Given the description of an element on the screen output the (x, y) to click on. 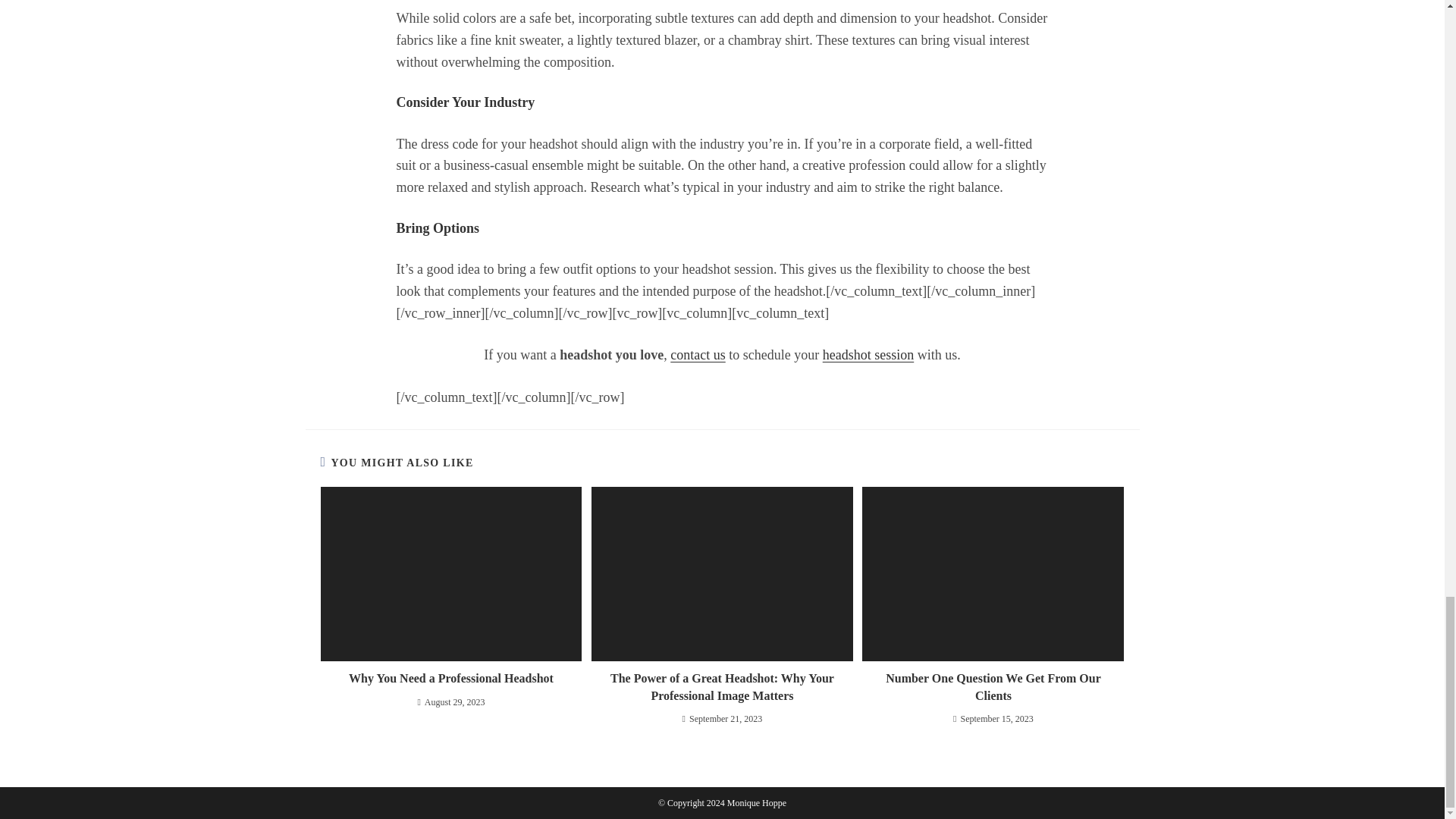
headshot session (868, 354)
contact us (697, 354)
Number One Question We Get From Our Clients (992, 687)
Why You Need a Professional Headshot (450, 678)
